Given the description of an element on the screen output the (x, y) to click on. 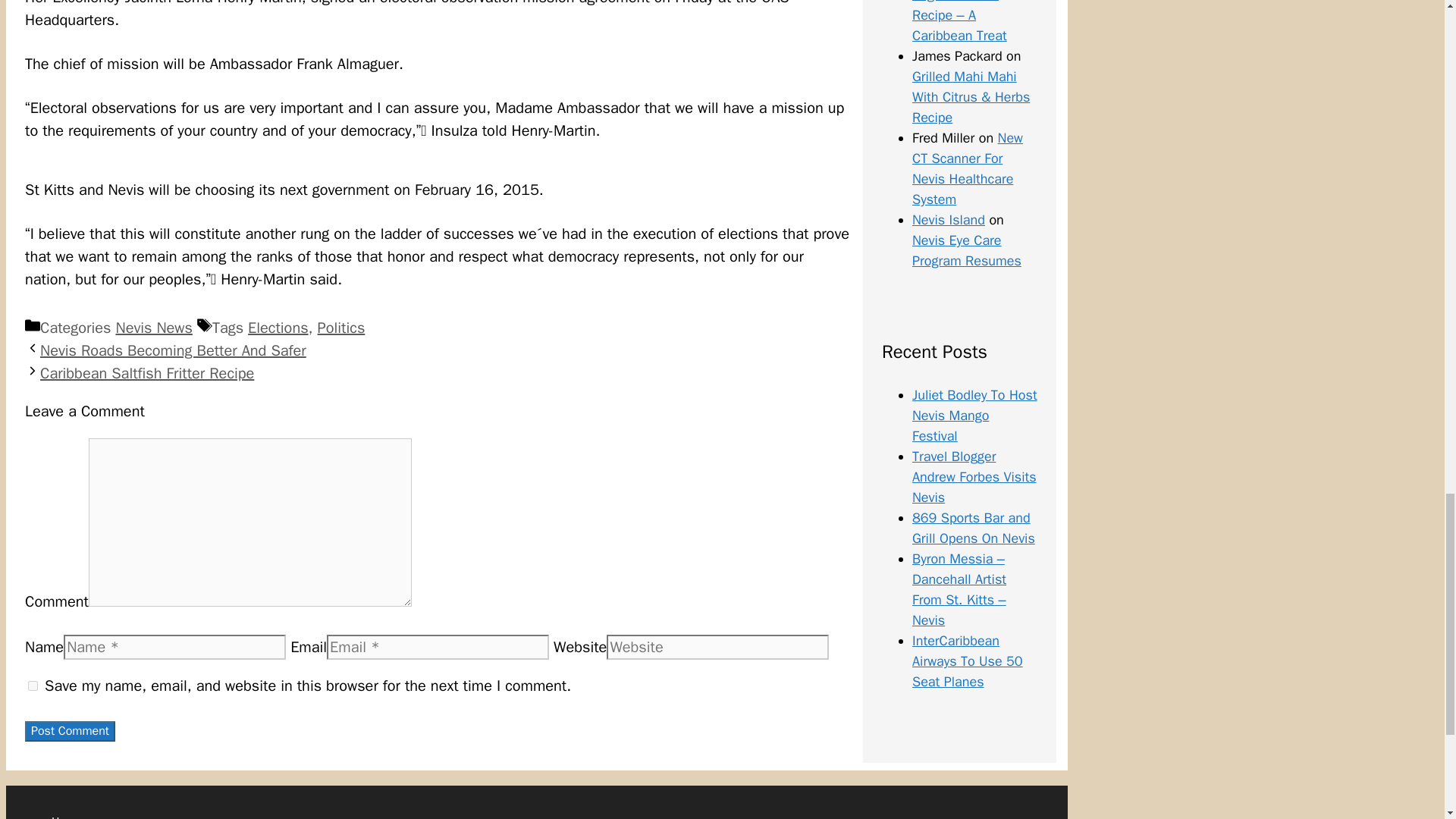
Caribbean Saltfish Fritter Recipe (146, 373)
Nevis Eye Care Program Resumes (967, 250)
Nevis Island (948, 219)
Elections (277, 327)
Post Comment (69, 731)
Post Comment (69, 731)
New CT Scanner For Nevis Healthcare System (967, 168)
Nevis Roads Becoming Better And Safer (172, 350)
yes (32, 685)
Juliet Bodley To Host Nevis Mango Festival (974, 415)
Politics (341, 327)
Nevis News (153, 327)
